Given the description of an element on the screen output the (x, y) to click on. 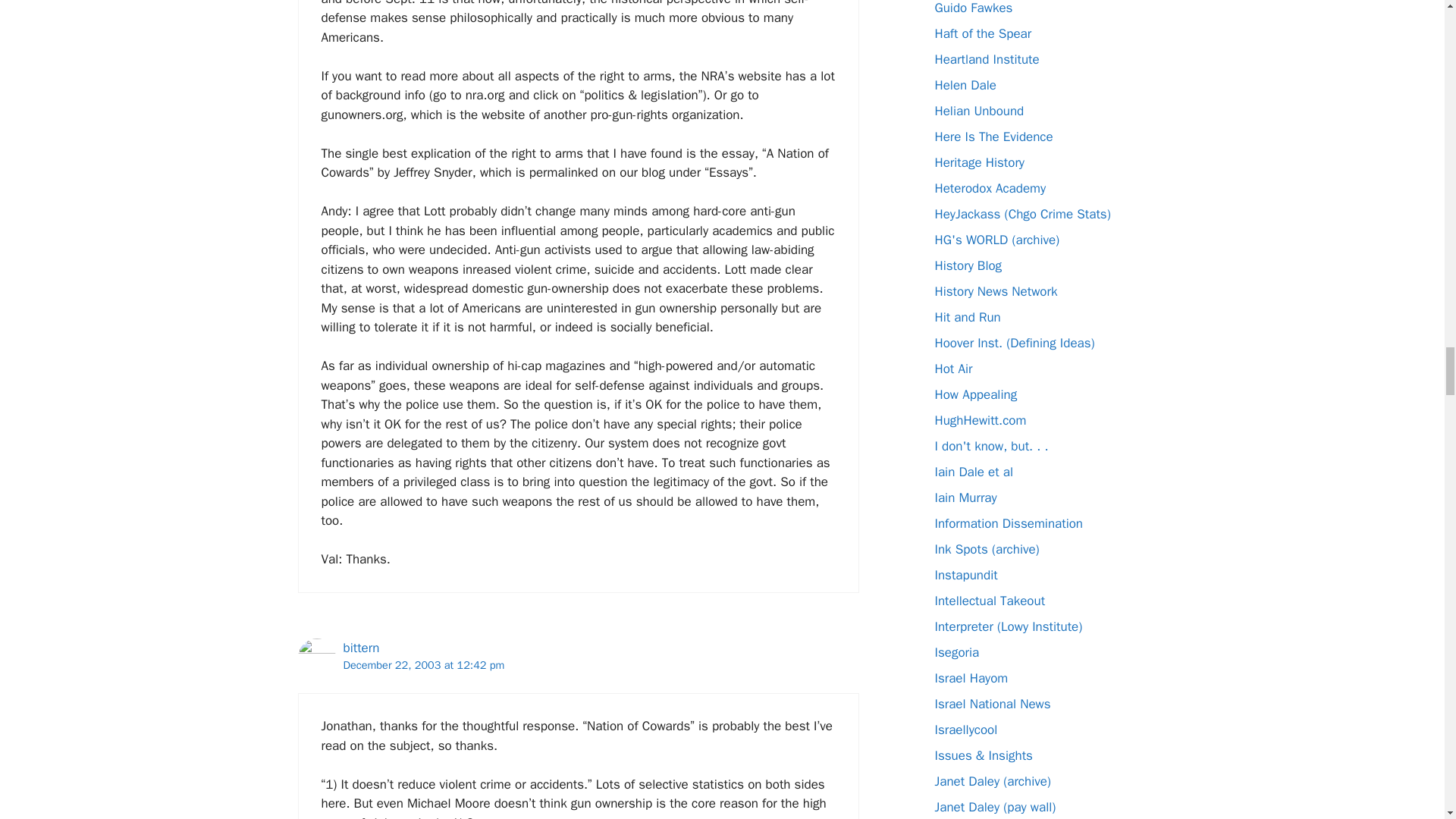
Reason Mag. (967, 317)
